Given the description of an element on the screen output the (x, y) to click on. 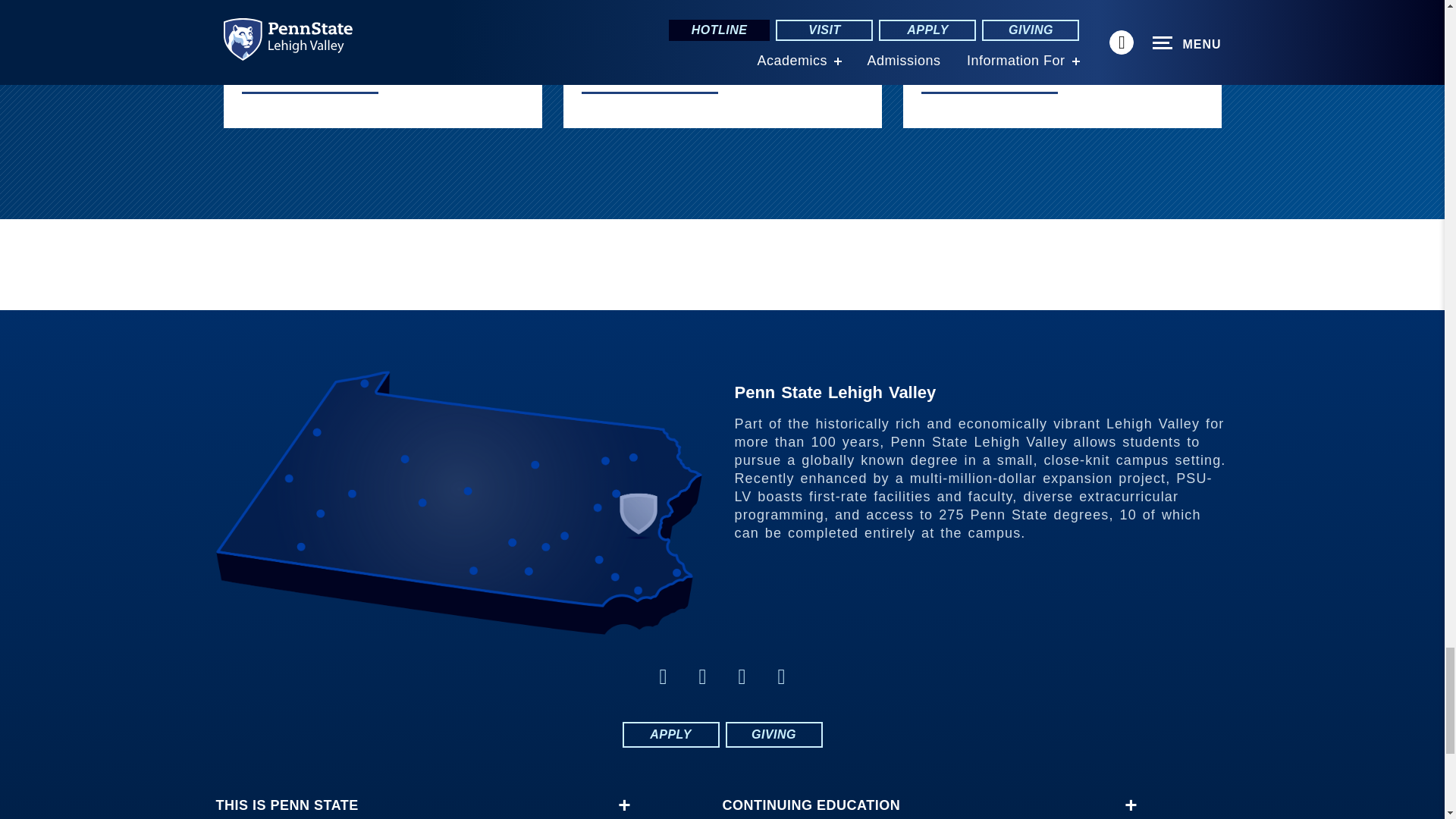
linkedin (741, 676)
facebook (662, 676)
youtube (781, 676)
instagram (702, 676)
